Given the description of an element on the screen output the (x, y) to click on. 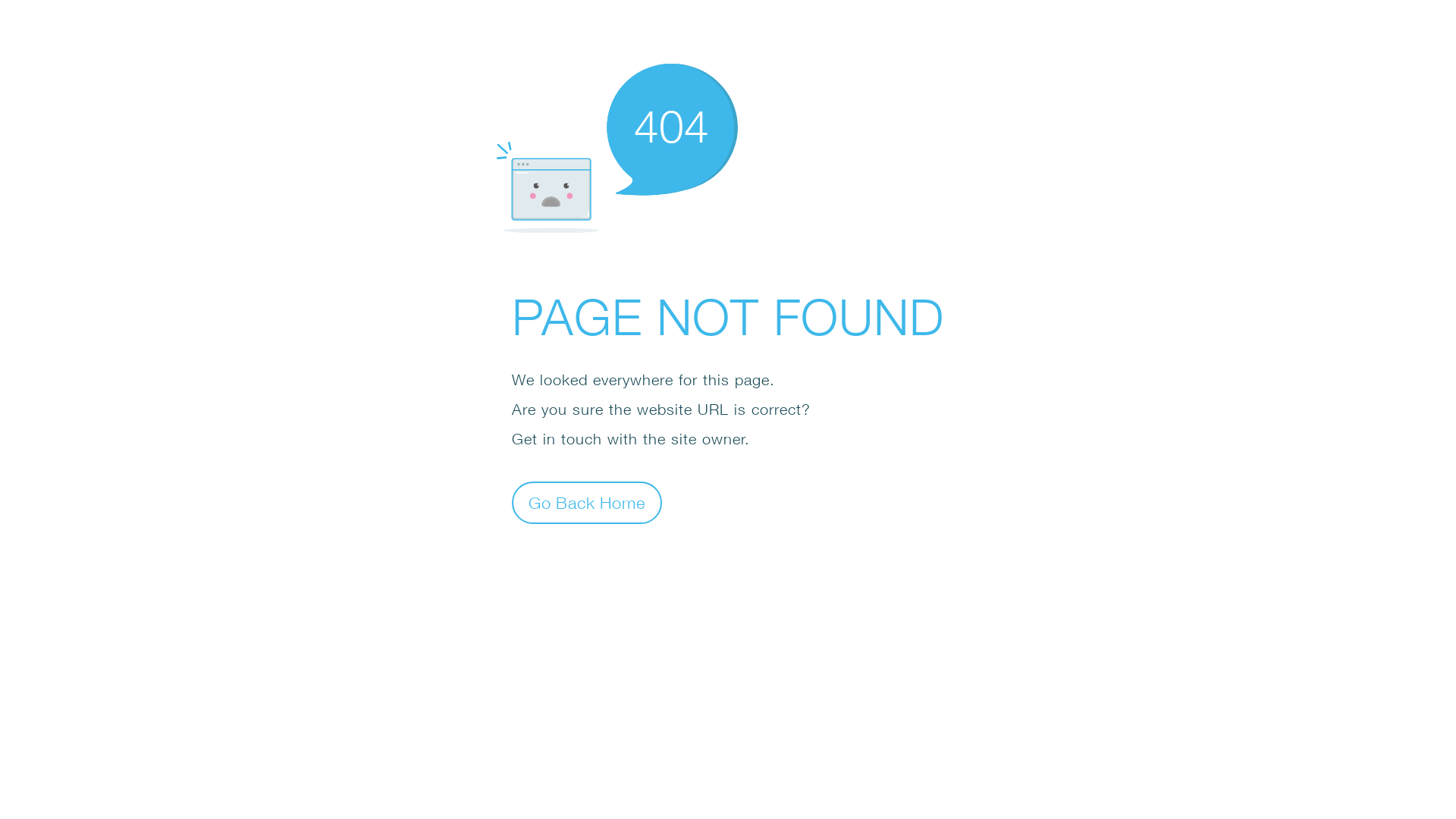
Go Back Home Element type: text (586, 502)
